Given the description of an element on the screen output the (x, y) to click on. 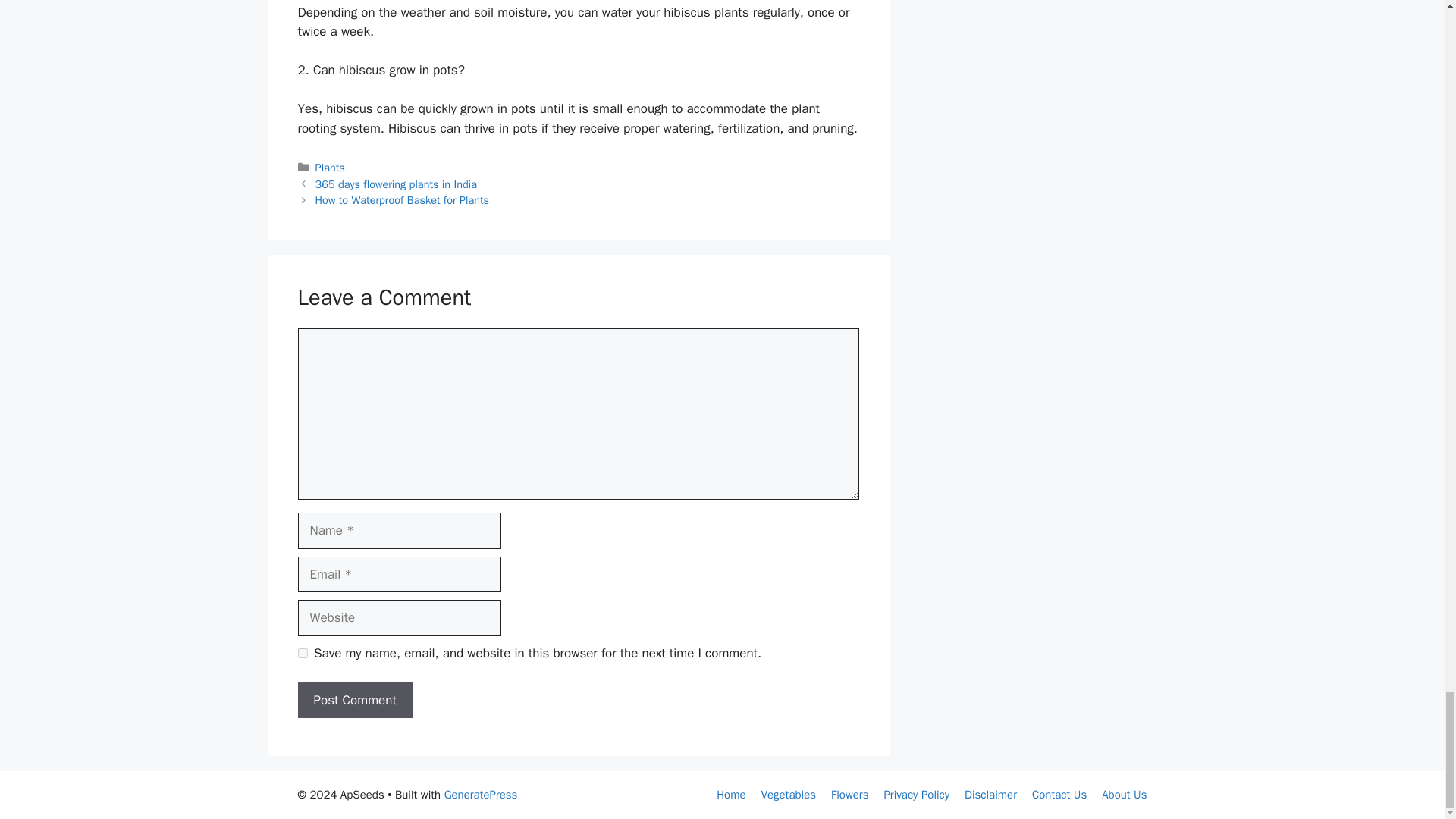
How to Waterproof Basket for Plants (402, 200)
Post Comment (354, 700)
Home (730, 794)
Plants (330, 167)
Flowers (849, 794)
365 days flowering plants in India (396, 183)
About Us (1124, 794)
GeneratePress (481, 794)
Disclaimer (989, 794)
Post Comment (354, 700)
Vegetables (788, 794)
yes (302, 653)
Contact Us (1059, 794)
Privacy Policy (916, 794)
